Given the description of an element on the screen output the (x, y) to click on. 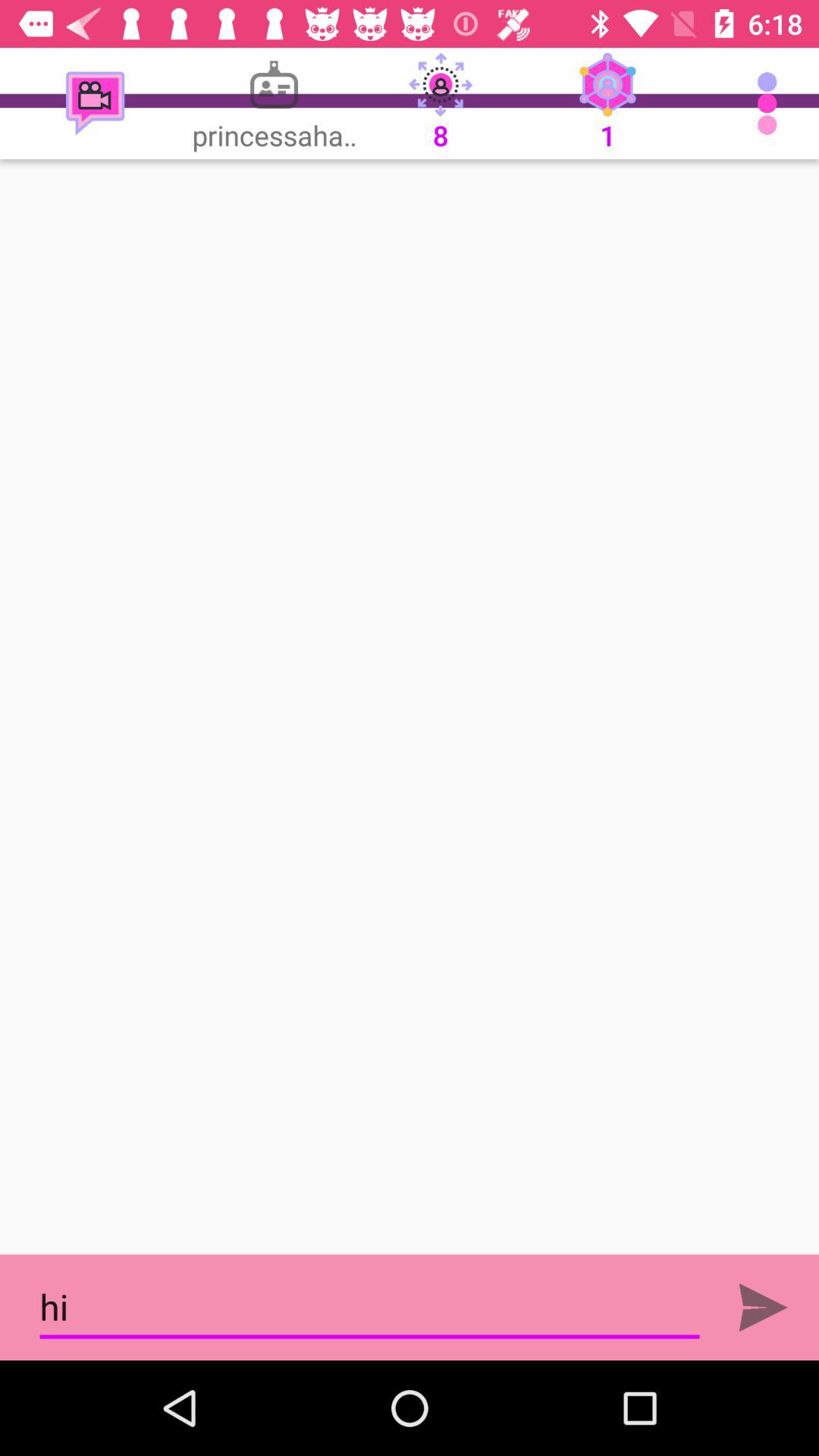
send the message (763, 1307)
